Given the description of an element on the screen output the (x, y) to click on. 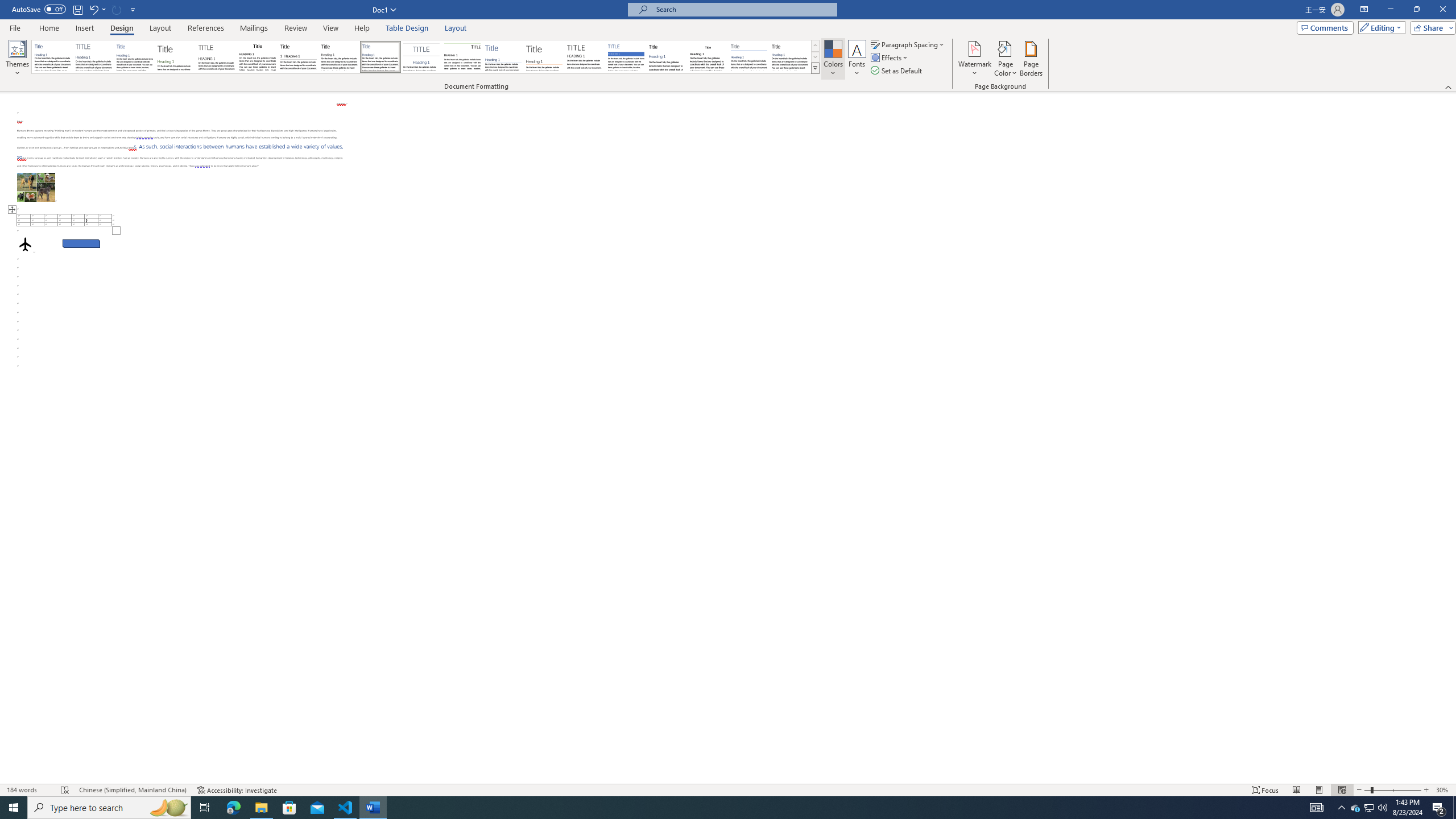
Page Borders... (1031, 58)
Style Set (814, 67)
Black & White (Capitalized) (216, 56)
Shaded (625, 56)
Undo Apply Quick Style Set (96, 9)
Black & White (Word 2013) (338, 56)
Zoom 30% (1443, 790)
Word (666, 56)
Row Down (814, 56)
Black & White (Classic) (257, 56)
